Given the description of an element on the screen output the (x, y) to click on. 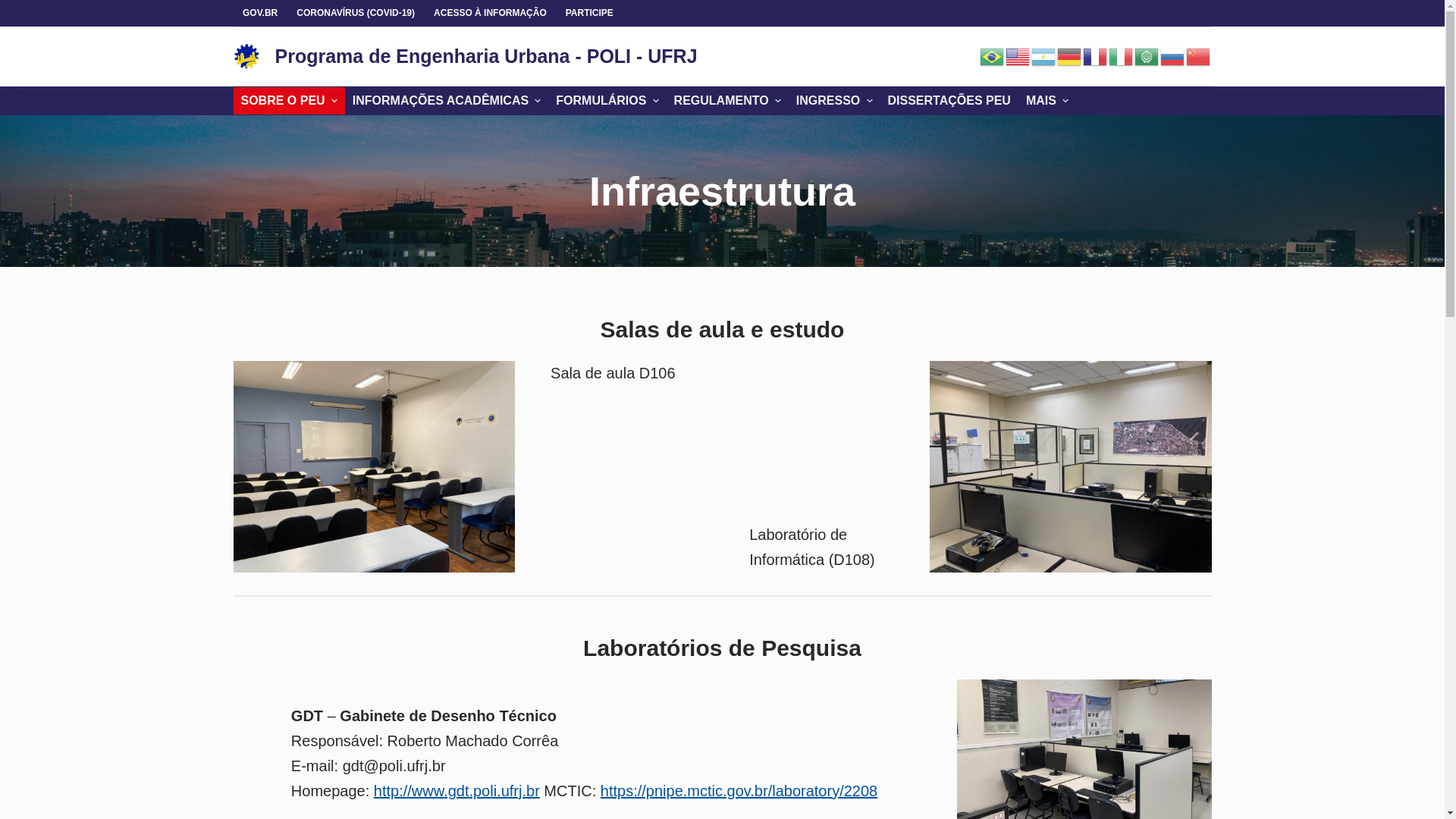
https://pnipe.mctic.gov.br/laboratory/2208 Element type: text (738, 790)
GOV.BR Element type: text (260, 13)
Deutsch Element type: hover (1069, 54)
SOBRE O PEU Element type: text (289, 100)
English Element type: hover (1018, 54)
http://www.gdt.poli.ufrj.br Element type: text (456, 790)
PARTICIPE Element type: text (588, 13)
Italiano Element type: hover (1121, 54)
INGRESSO Element type: text (834, 100)
REGULAMENTO Element type: text (727, 100)
MAIS Element type: text (1047, 100)
Programa de Engenharia Urbana - POLI - UFRJ Element type: text (485, 55)
